Given the description of an element on the screen output the (x, y) to click on. 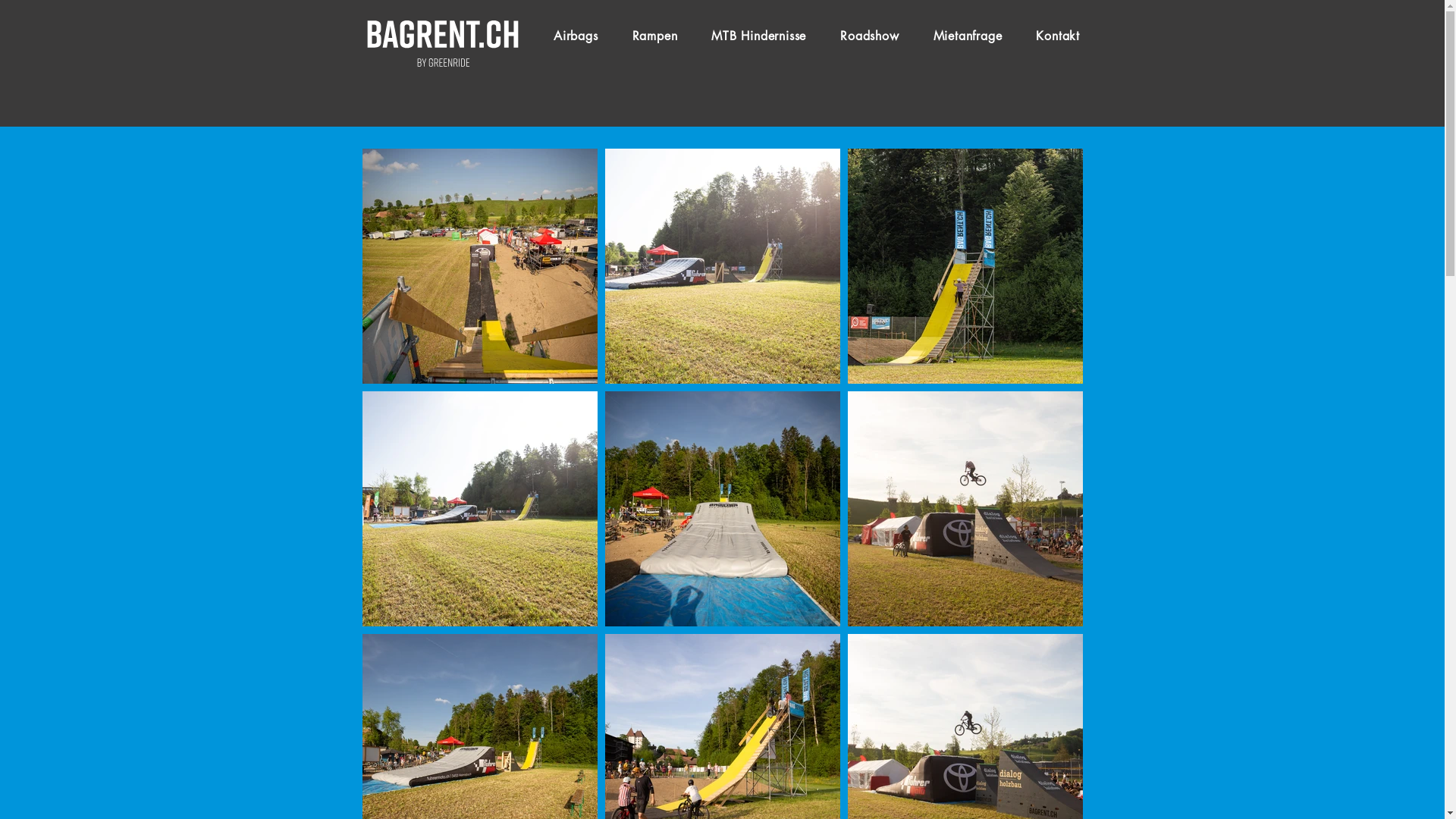
MTB Hindernisse Element type: text (758, 35)
Airbags Element type: text (575, 35)
Rampen Element type: text (654, 35)
Roadshow Element type: text (869, 35)
Kontakt Element type: text (1058, 35)
Mietanfrage Element type: text (967, 35)
